Given the description of an element on the screen output the (x, y) to click on. 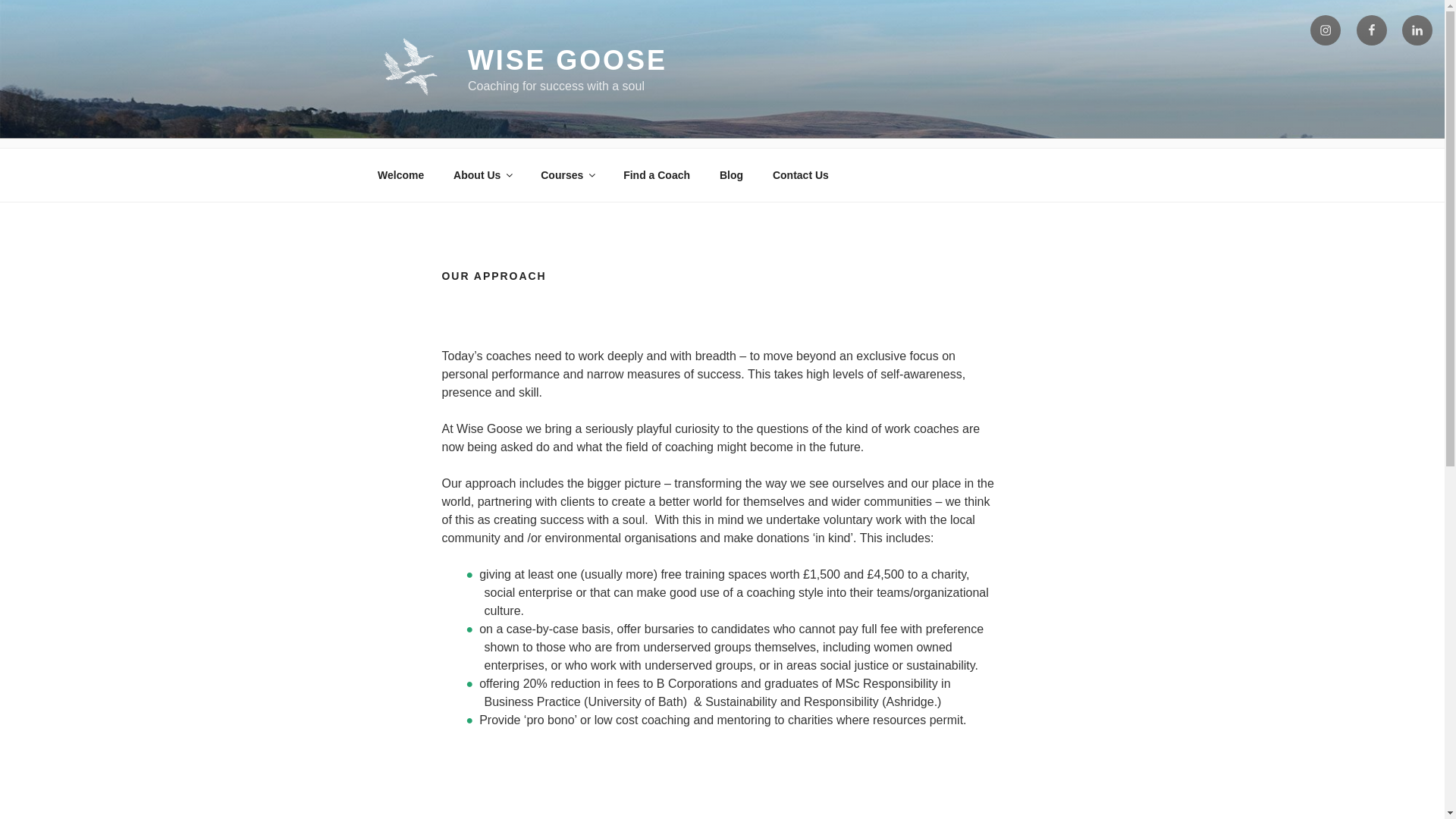
Instagram (1325, 30)
Linkedin (1417, 30)
Find a Coach (656, 175)
WISE GOOSE (566, 60)
Blog (730, 175)
Contact Us (799, 175)
Facebook (1371, 30)
About Us (482, 175)
Welcome (400, 175)
Courses (567, 175)
